Given the description of an element on the screen output the (x, y) to click on. 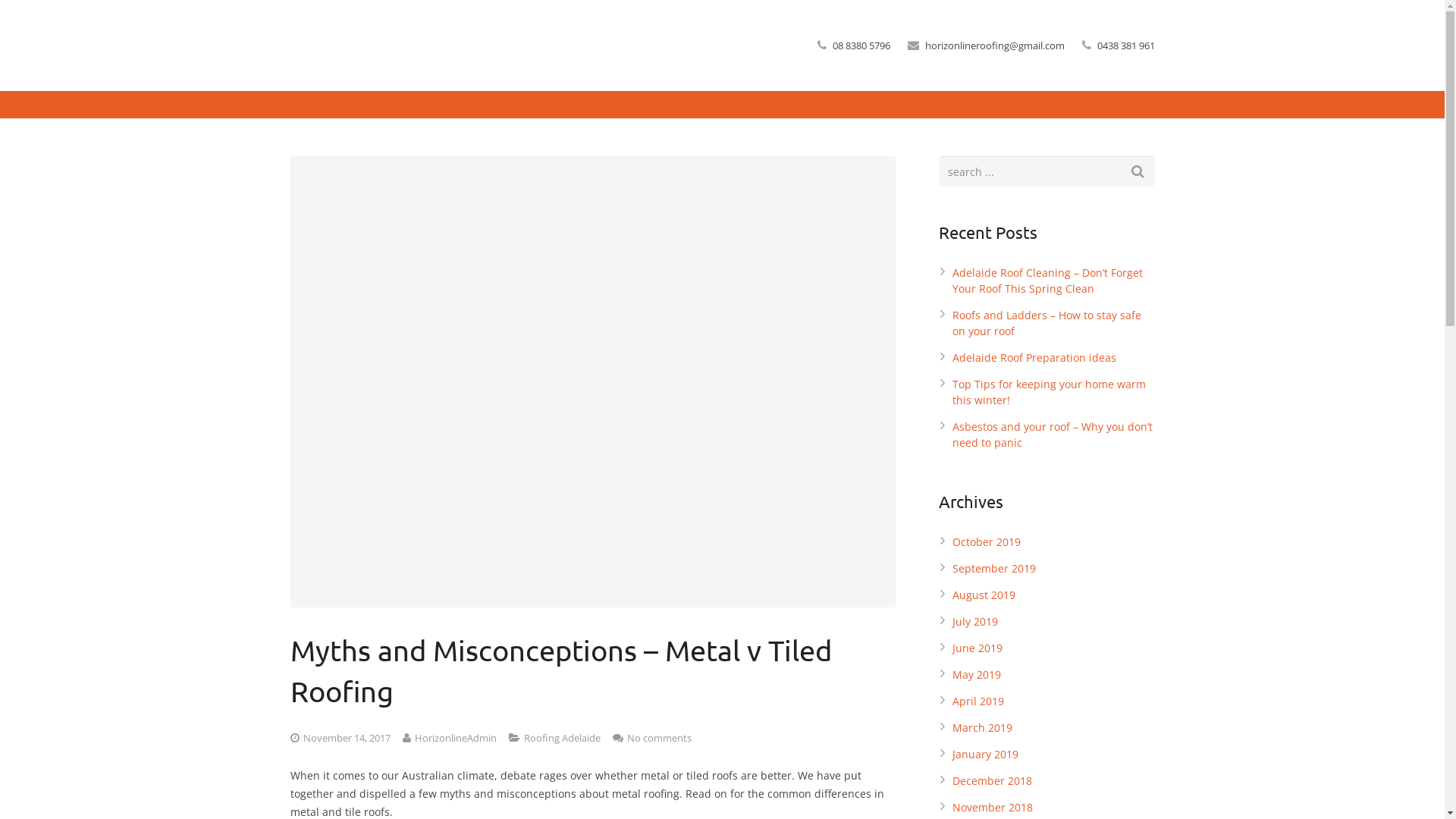
Roofing Adelaide Element type: text (561, 737)
April 2019 Element type: text (978, 700)
July 2019 Element type: text (974, 621)
December 2018 Element type: text (992, 780)
January 2019 Element type: text (985, 753)
October 2019 Element type: text (986, 541)
No comments Element type: text (658, 737)
August 2019 Element type: text (983, 594)
March 2019 Element type: text (982, 727)
November 2018 Element type: text (992, 807)
0438 381 961 Element type: text (1125, 45)
horizonlineroofing@gmail.com Element type: text (994, 45)
June 2019 Element type: text (977, 647)
September 2019 Element type: text (993, 568)
May 2019 Element type: text (976, 674)
Adelaide Roof Preparation ideas Element type: text (1034, 357)
Top Tips for keeping your home warm this winter! Element type: text (1048, 391)
08 8380 5796 Element type: text (861, 45)
